Given the description of an element on the screen output the (x, y) to click on. 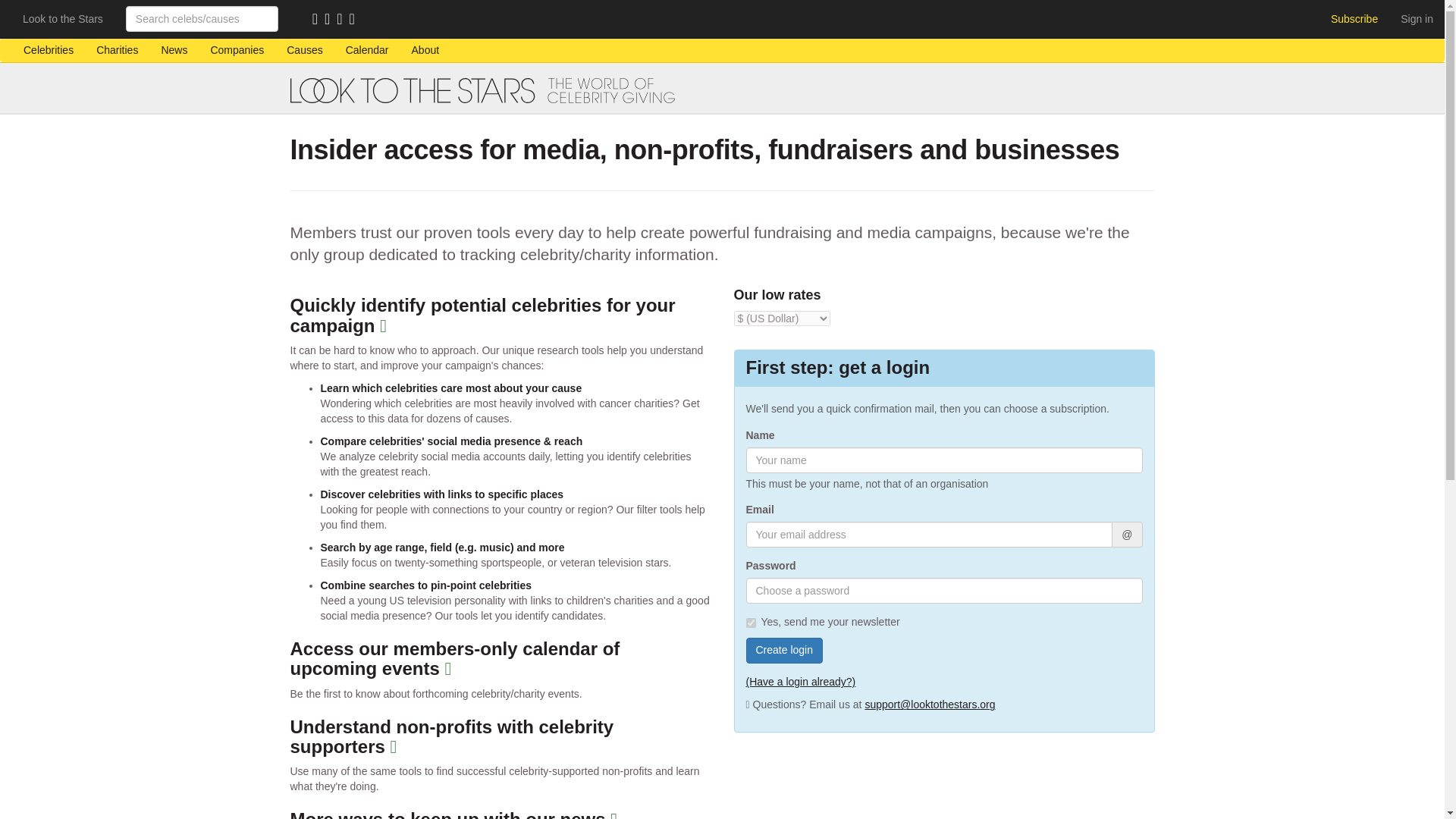
News (173, 49)
Create login (784, 650)
Calendar (367, 49)
Charities (116, 49)
Companies (236, 49)
Celebrities (47, 49)
Find out about our subscriptions (1354, 18)
Mailing list (330, 20)
Charitable areas of interest (304, 49)
About (425, 49)
Subscribe (1354, 18)
News about celebrities doing good (173, 49)
Subscribe to our feed (318, 20)
Look to the Stars - the world of celebrity giving (721, 90)
Follow us on Twitter (342, 20)
